Given the description of an element on the screen output the (x, y) to click on. 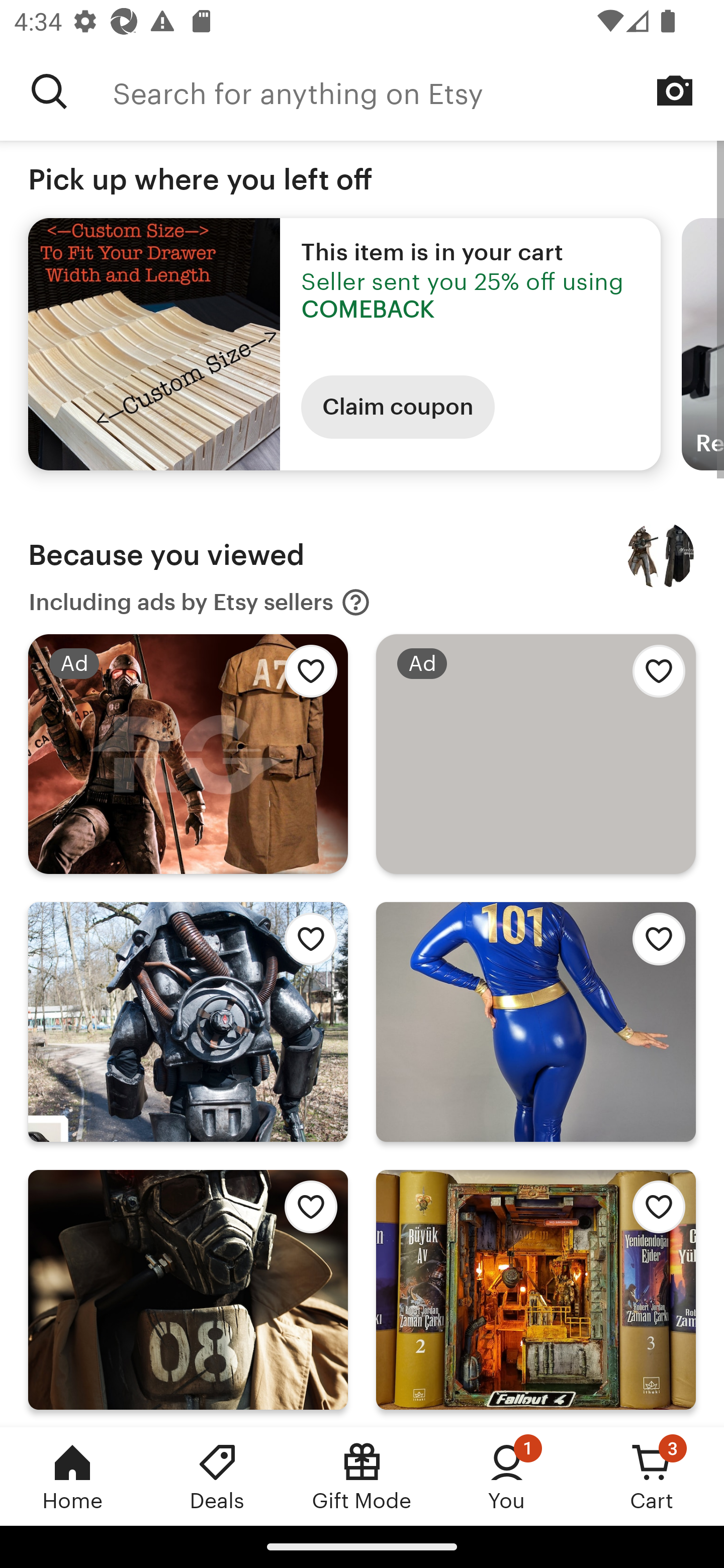
Search for anything on Etsy (49, 91)
Search by image (674, 90)
Search for anything on Etsy (418, 91)
Claim coupon (397, 407)
Including ads by Etsy sellers (199, 601)
Add NCR Ranger helmet and armor set to favorites (305, 1211)
Deals (216, 1475)
Gift Mode (361, 1475)
You, 1 new notification You (506, 1475)
Cart, 3 new notifications Cart (651, 1475)
